Given the description of an element on the screen output the (x, y) to click on. 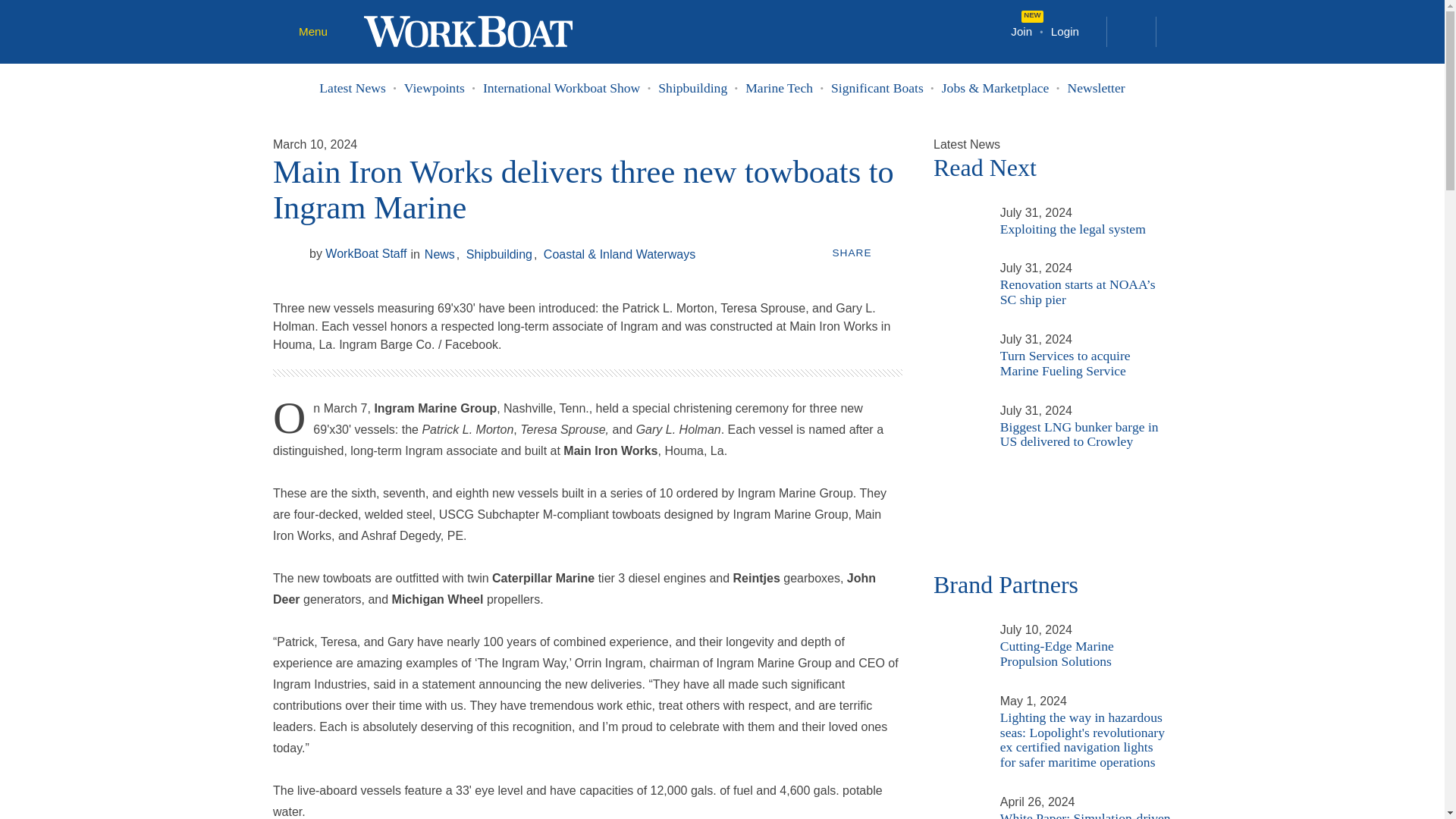
WorkBoat Staff (357, 254)
Exploiting the legal system (957, 211)
WorkBoat (468, 30)
WorkBoat Staff (287, 253)
